Given the description of an element on the screen output the (x, y) to click on. 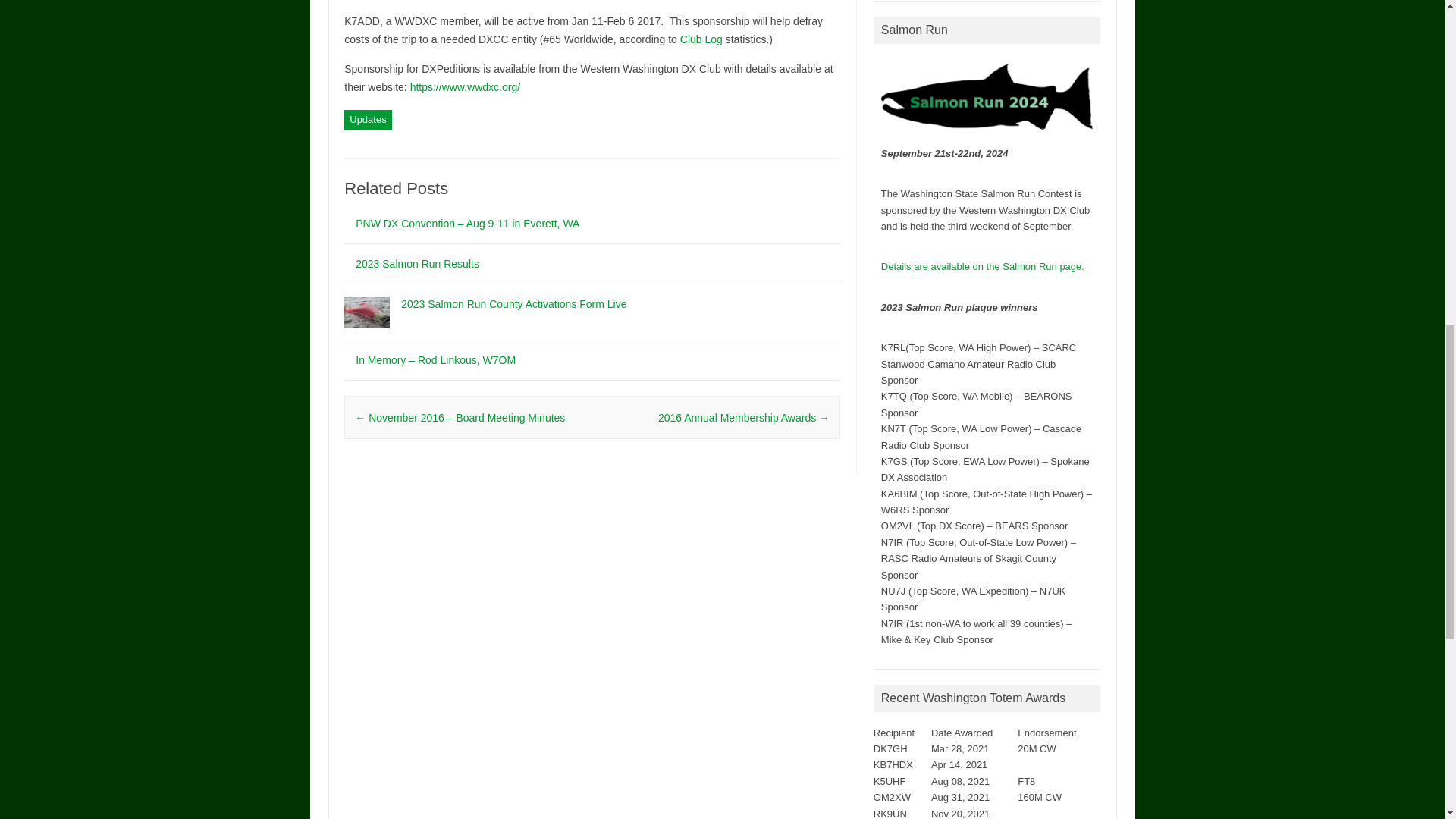
2023 Salmon Run County Activations Form Live (513, 304)
2023 Salmon Run Results (417, 263)
2023 Salmon Run County Activations Form Live (366, 335)
Club Log (700, 39)
